Given the description of an element on the screen output the (x, y) to click on. 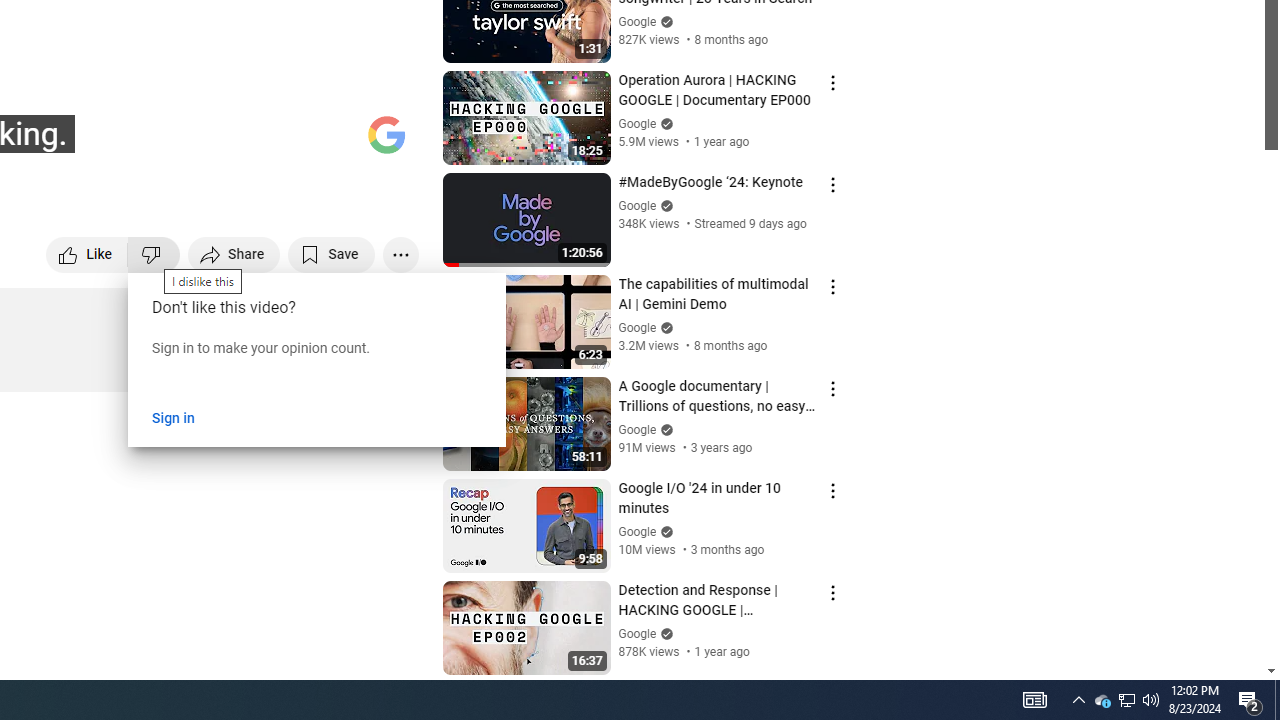
Share (234, 254)
Like (87, 254)
More actions (399, 254)
Save to playlist (331, 254)
